Given the description of an element on the screen output the (x, y) to click on. 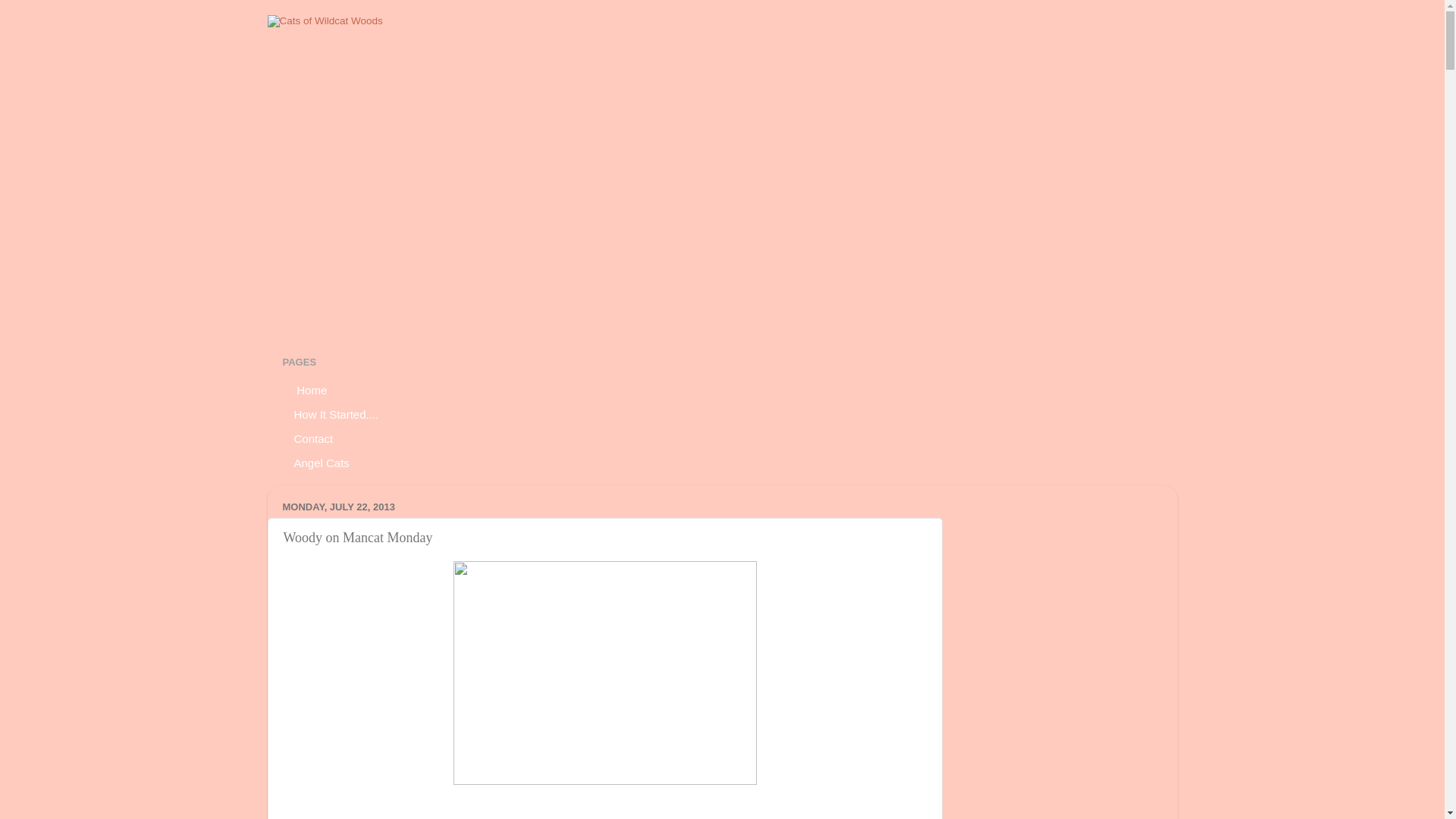
Home (310, 389)
How It Started.... (336, 413)
Contact (313, 437)
Angel Cats (321, 462)
